Given the description of an element on the screen output the (x, y) to click on. 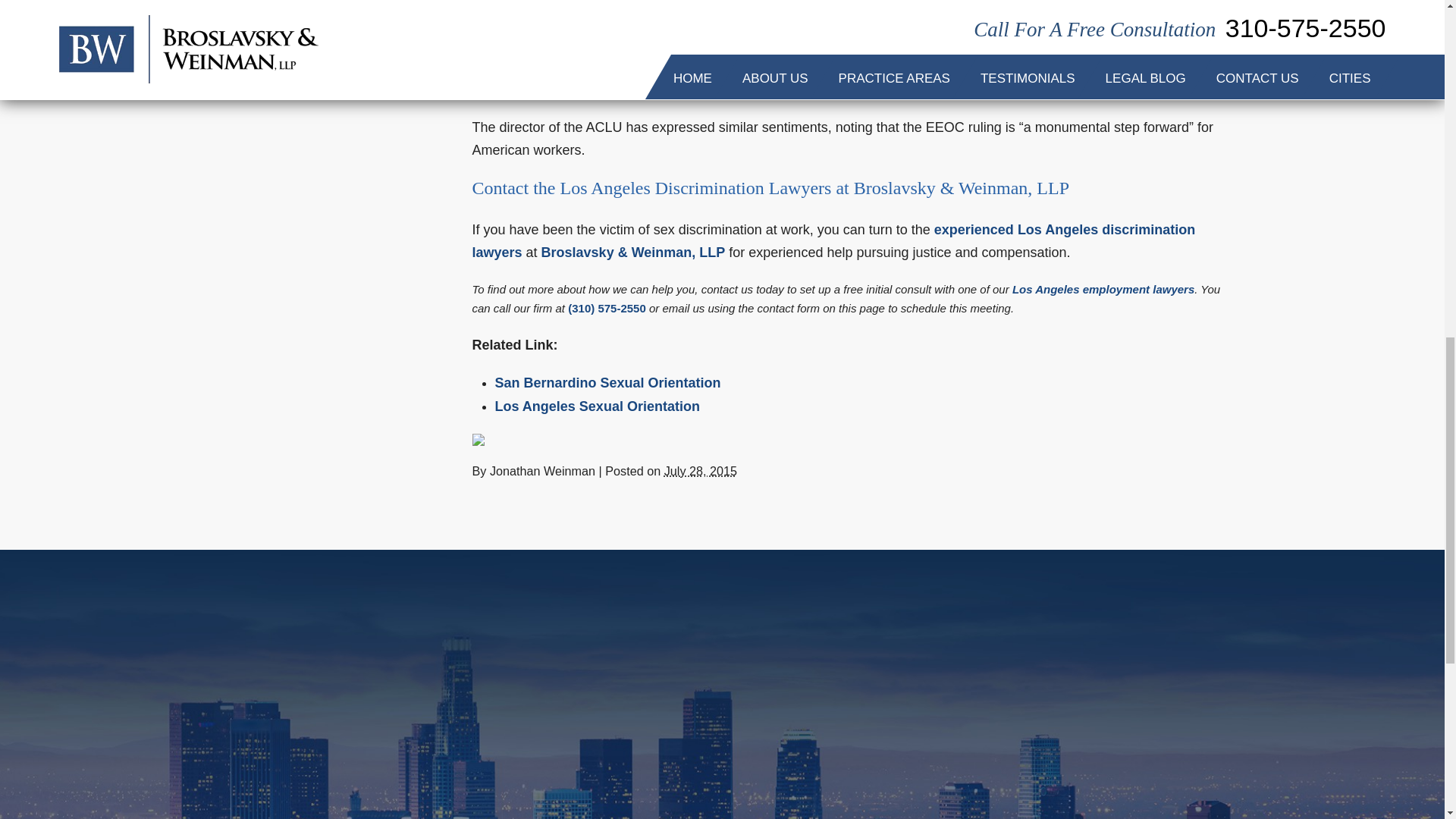
Twitter (488, 439)
LinkedIn (499, 439)
Google Plus (509, 439)
Facebook (477, 439)
